Given the description of an element on the screen output the (x, y) to click on. 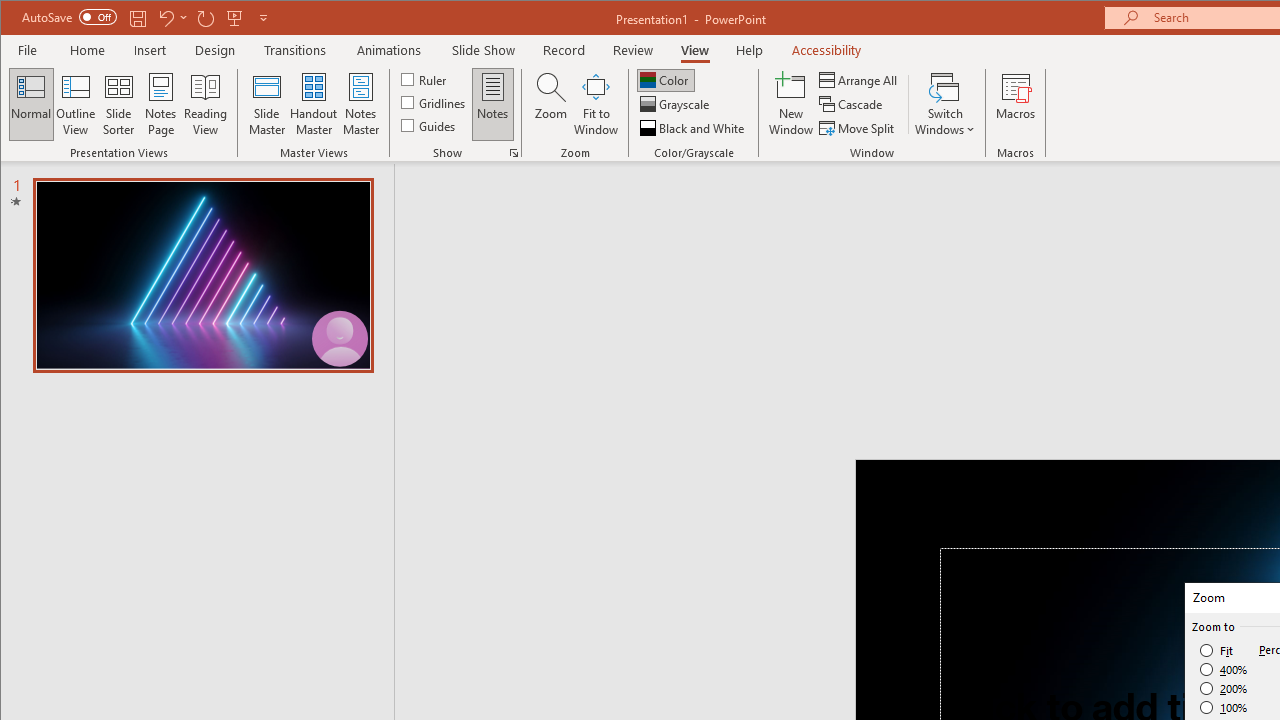
Guides (430, 124)
Black and White (694, 127)
200% (1224, 688)
Fit to Window (596, 104)
Slide Master (266, 104)
Handout Master (314, 104)
